Given the description of an element on the screen output the (x, y) to click on. 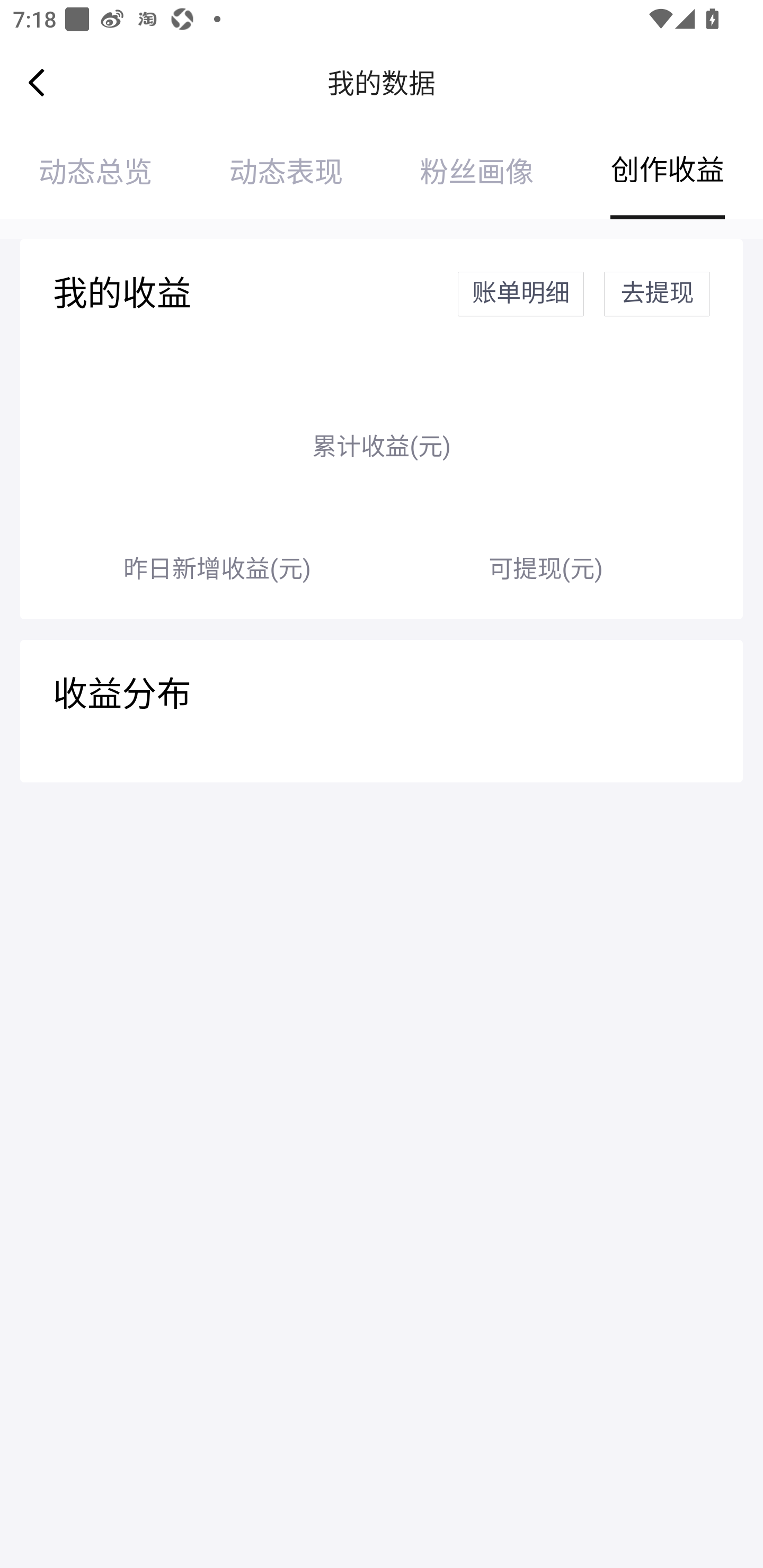
Navigate up (36, 82)
动态总览 (95, 173)
动态表现 (285, 173)
粉丝画像 (476, 173)
创作收益 (667, 173)
